Given the description of an element on the screen output the (x, y) to click on. 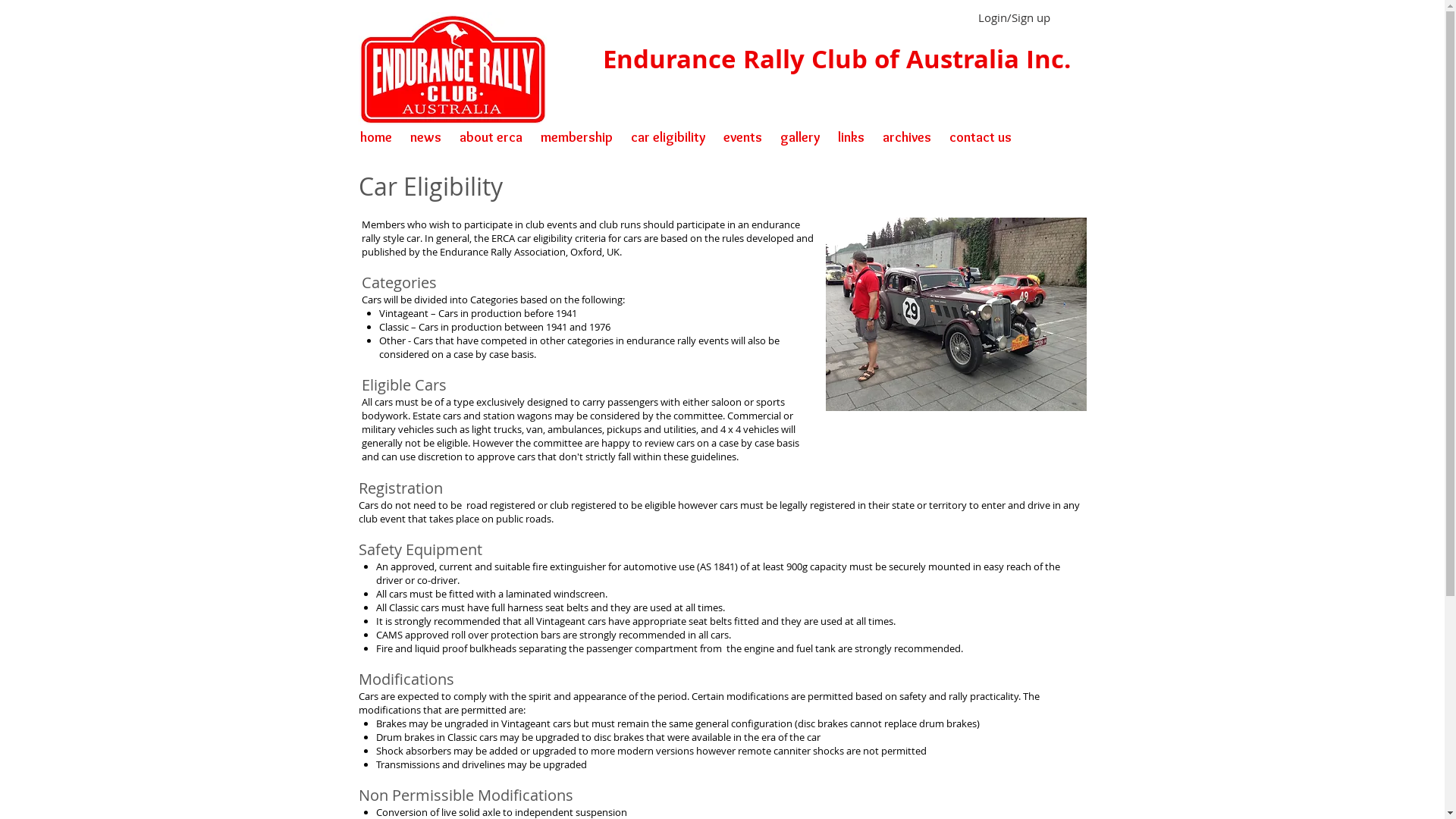
links Element type: text (850, 136)
Login/Sign up Element type: text (1013, 17)
about erca Element type: text (490, 136)
archives Element type: text (906, 136)
Endurance Rally Club of Australia Inc. Element type: text (836, 58)
contact us Element type: text (980, 136)
gallery Element type: text (799, 136)
home Element type: text (375, 136)
car eligibility Element type: text (667, 136)
news Element type: text (424, 136)
membership Element type: text (575, 136)
events Element type: text (742, 136)
